Given the description of an element on the screen output the (x, y) to click on. 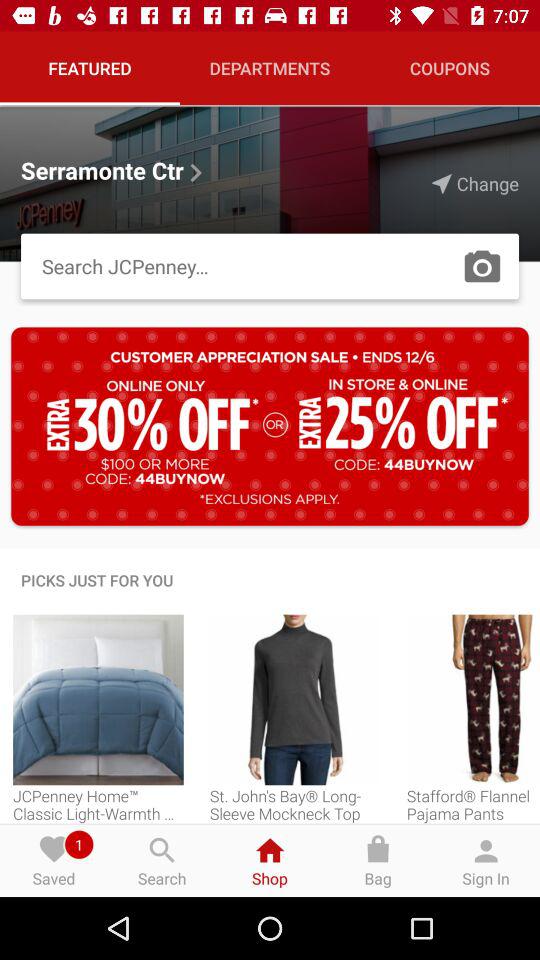
click on the change button at the top right bottom of the page (475, 183)
click on the image below picks just for you (98, 700)
click on the image below the search bar (269, 425)
click on the image present on the bottom right corner of the page (473, 700)
